Given the description of an element on the screen output the (x, y) to click on. 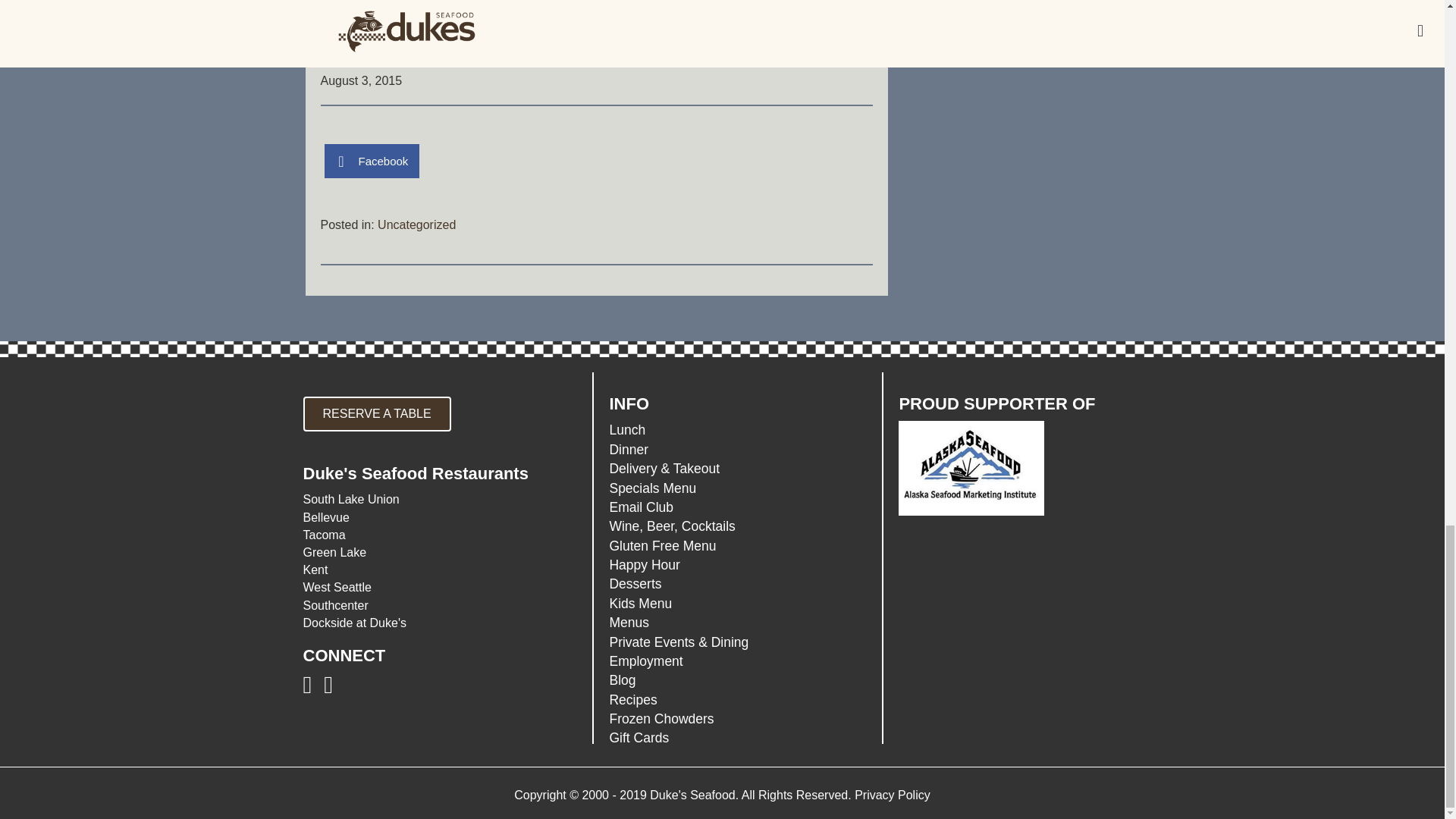
Facebook (372, 161)
Uncategorized (416, 224)
